Given the description of an element on the screen output the (x, y) to click on. 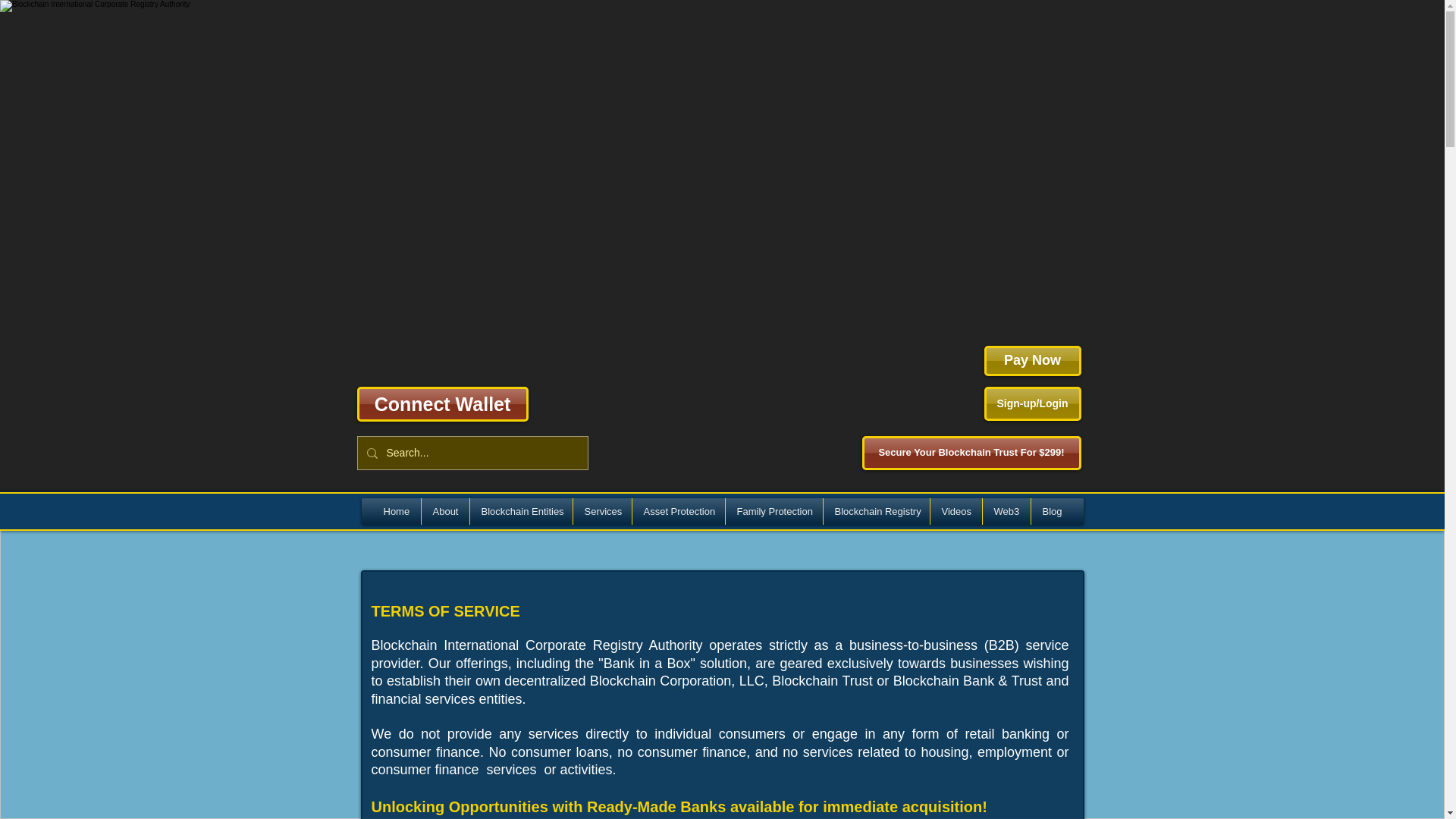
Home (395, 510)
Blockchain Entities (520, 510)
About (444, 510)
Connect Wallet (441, 403)
Pay Now (1032, 360)
